Given the description of an element on the screen output the (x, y) to click on. 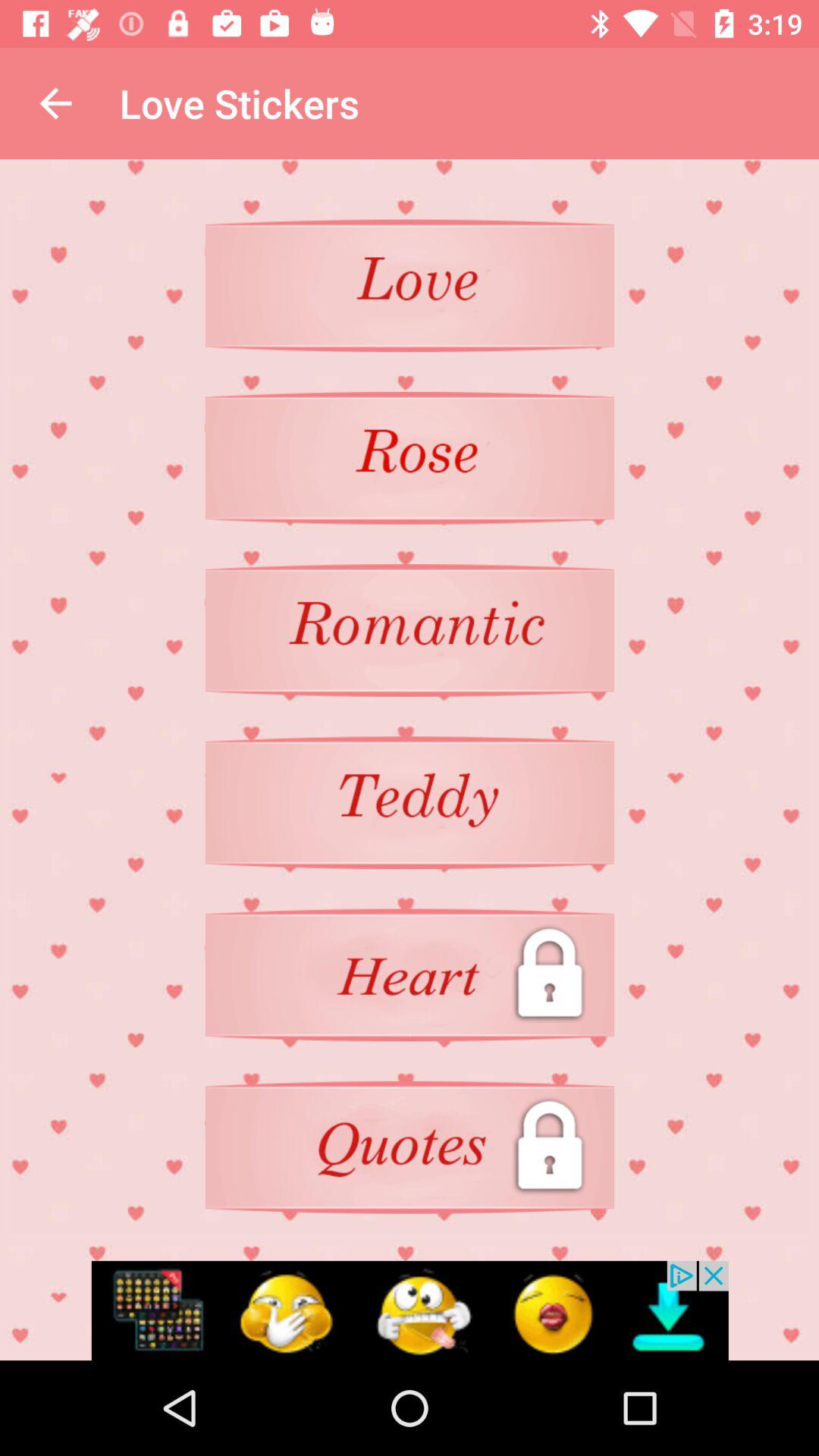
opens heart sticker (409, 974)
